Given the description of an element on the screen output the (x, y) to click on. 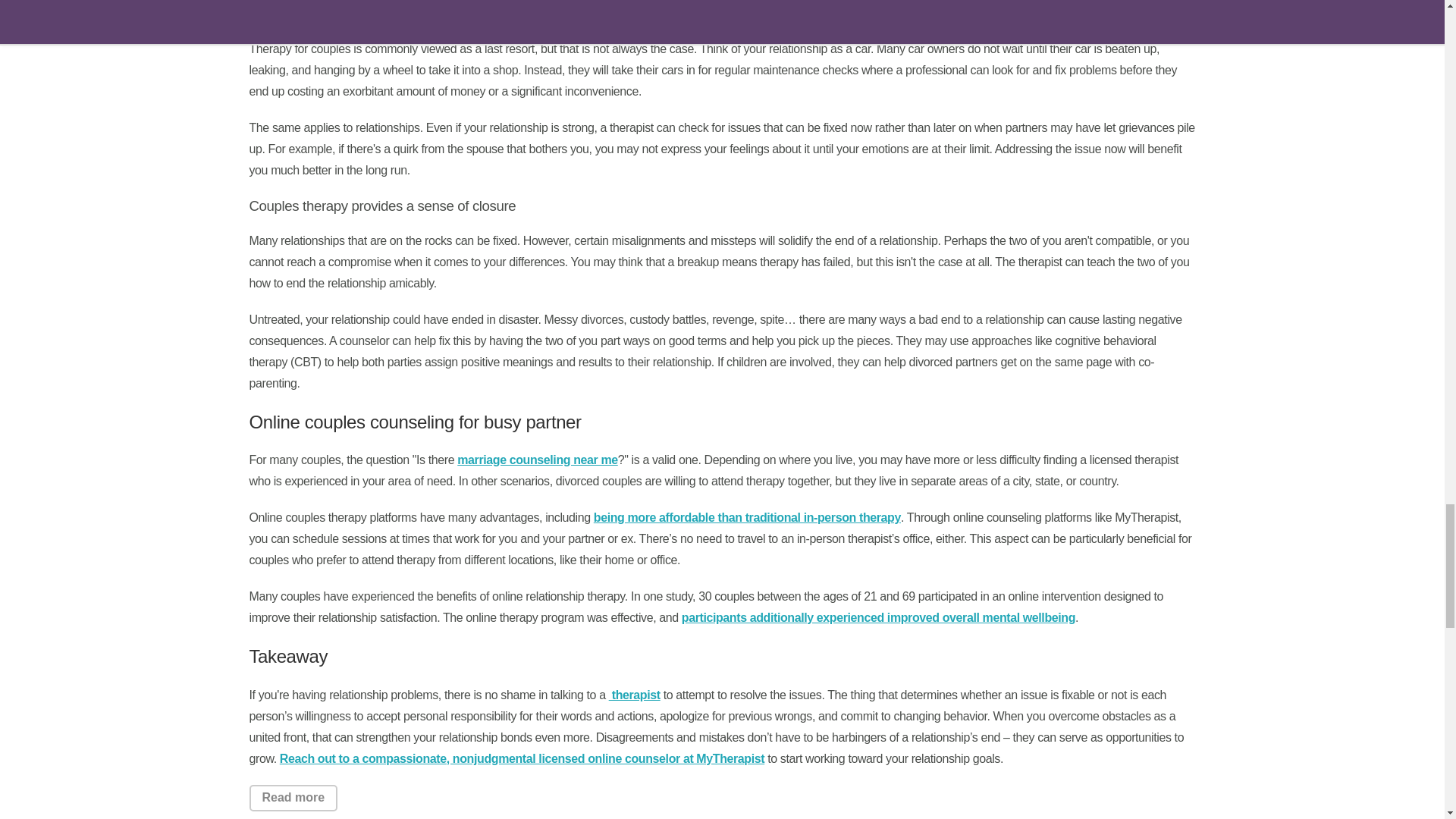
 therapist (634, 694)
marriage counseling near me (537, 459)
Read more (292, 797)
being more affordable than traditional in-person therapy (747, 517)
